Given the description of an element on the screen output the (x, y) to click on. 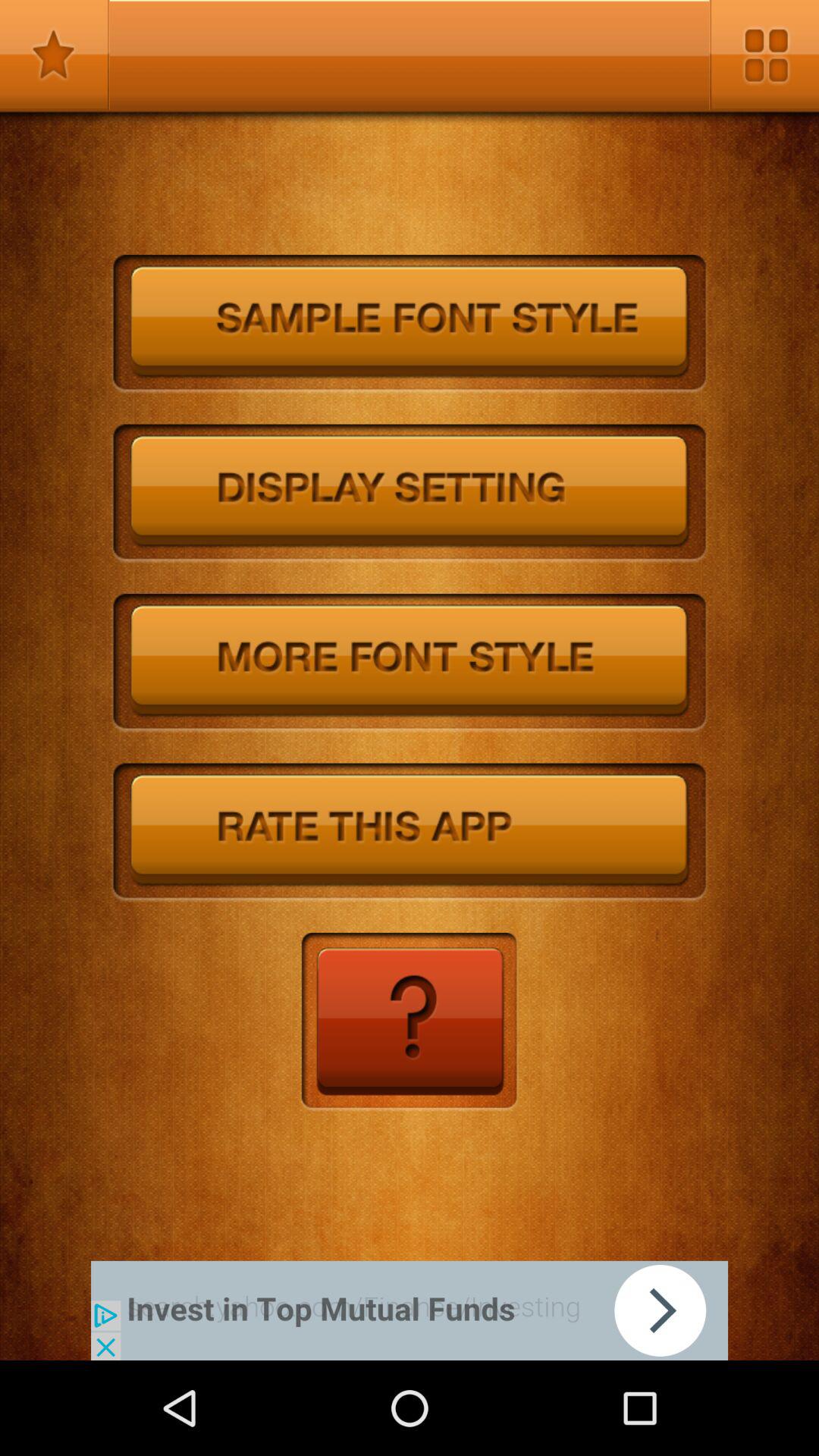
display setting (409, 493)
